Given the description of an element on the screen output the (x, y) to click on. 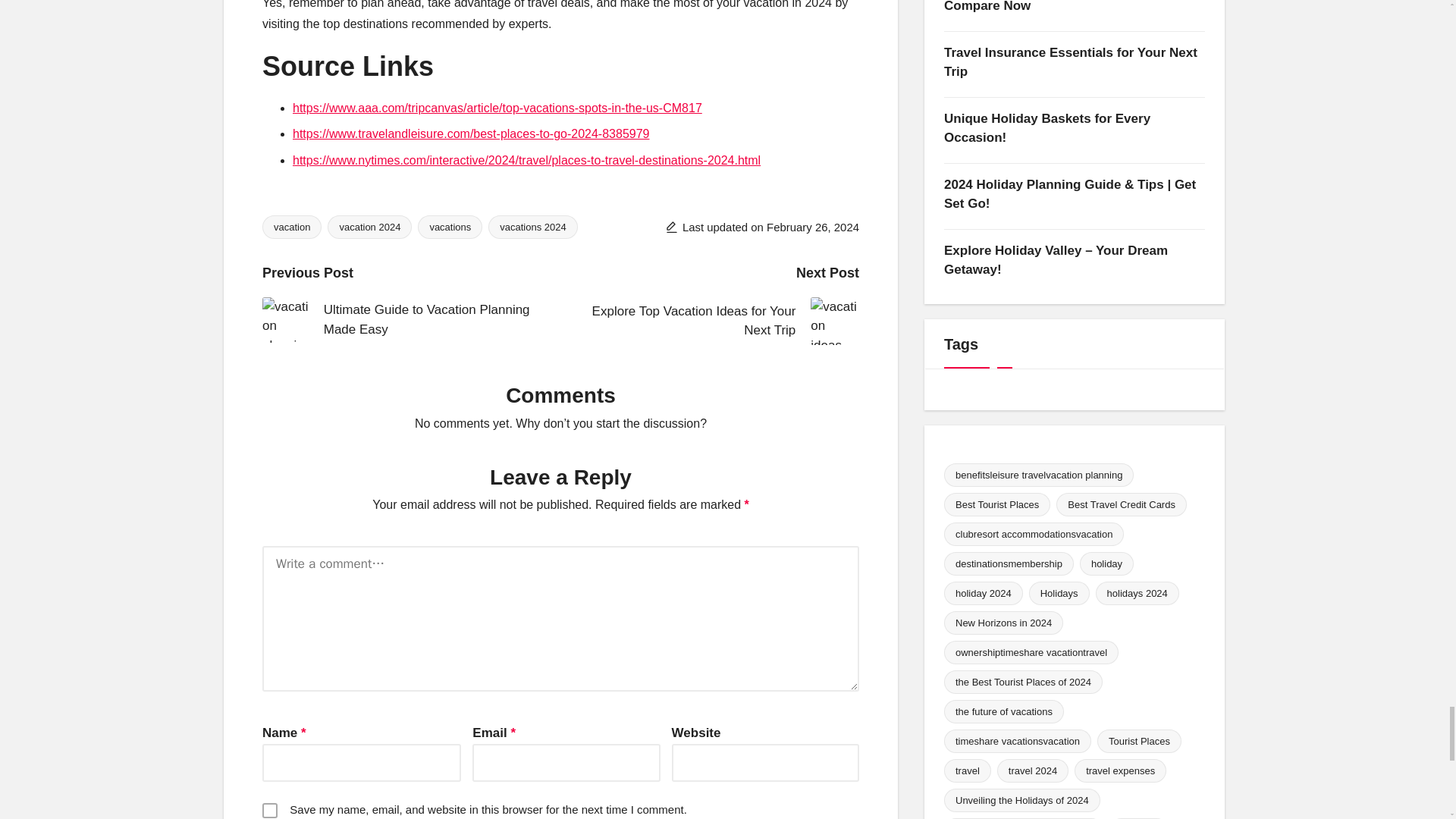
yes (270, 810)
